Given the description of an element on the screen output the (x, y) to click on. 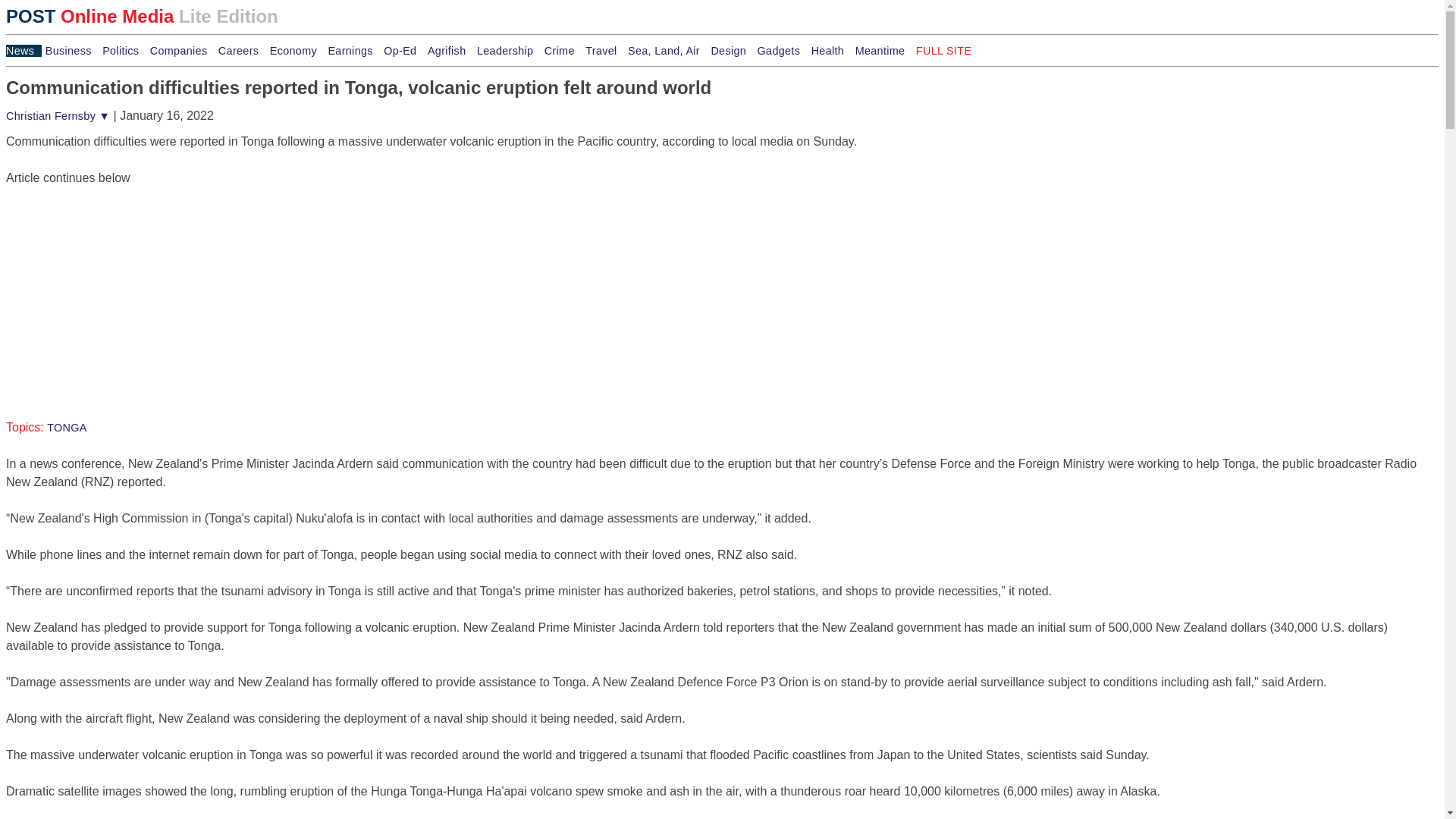
News (23, 50)
Crime (563, 50)
Gadgets (782, 50)
Politics (124, 50)
Sea, Land, Air (667, 50)
POST Online Media (943, 50)
Health (830, 50)
FULL SITE (943, 50)
Leadership (508, 50)
Business (72, 50)
